Given the description of an element on the screen output the (x, y) to click on. 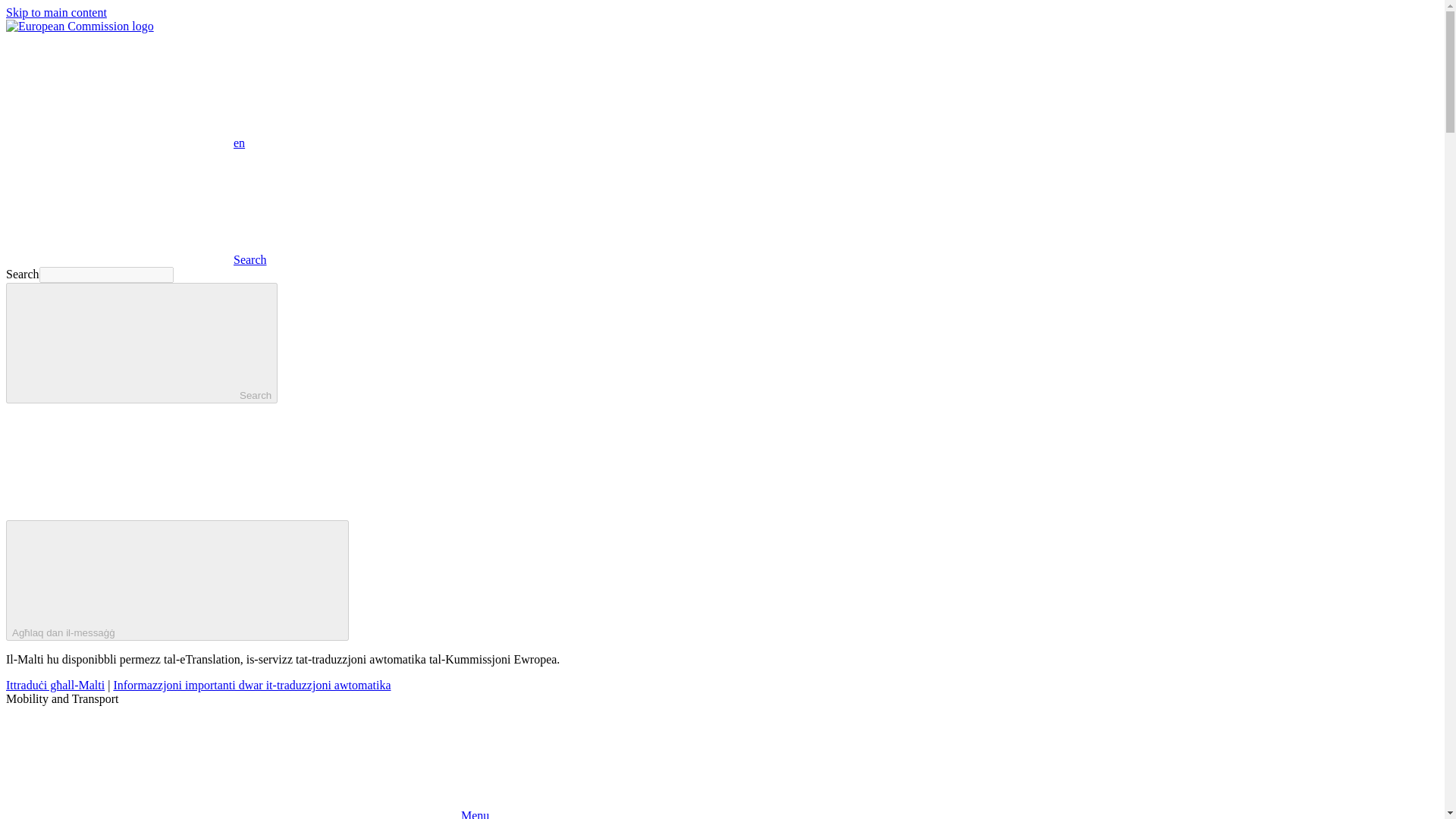
Menu (247, 814)
enen (124, 142)
en (118, 90)
Search (135, 259)
Informazzjoni importanti dwar it-traduzzjoni awtomatika (251, 684)
Search (141, 342)
Skip to main content (55, 11)
European Commission (79, 25)
